Given the description of an element on the screen output the (x, y) to click on. 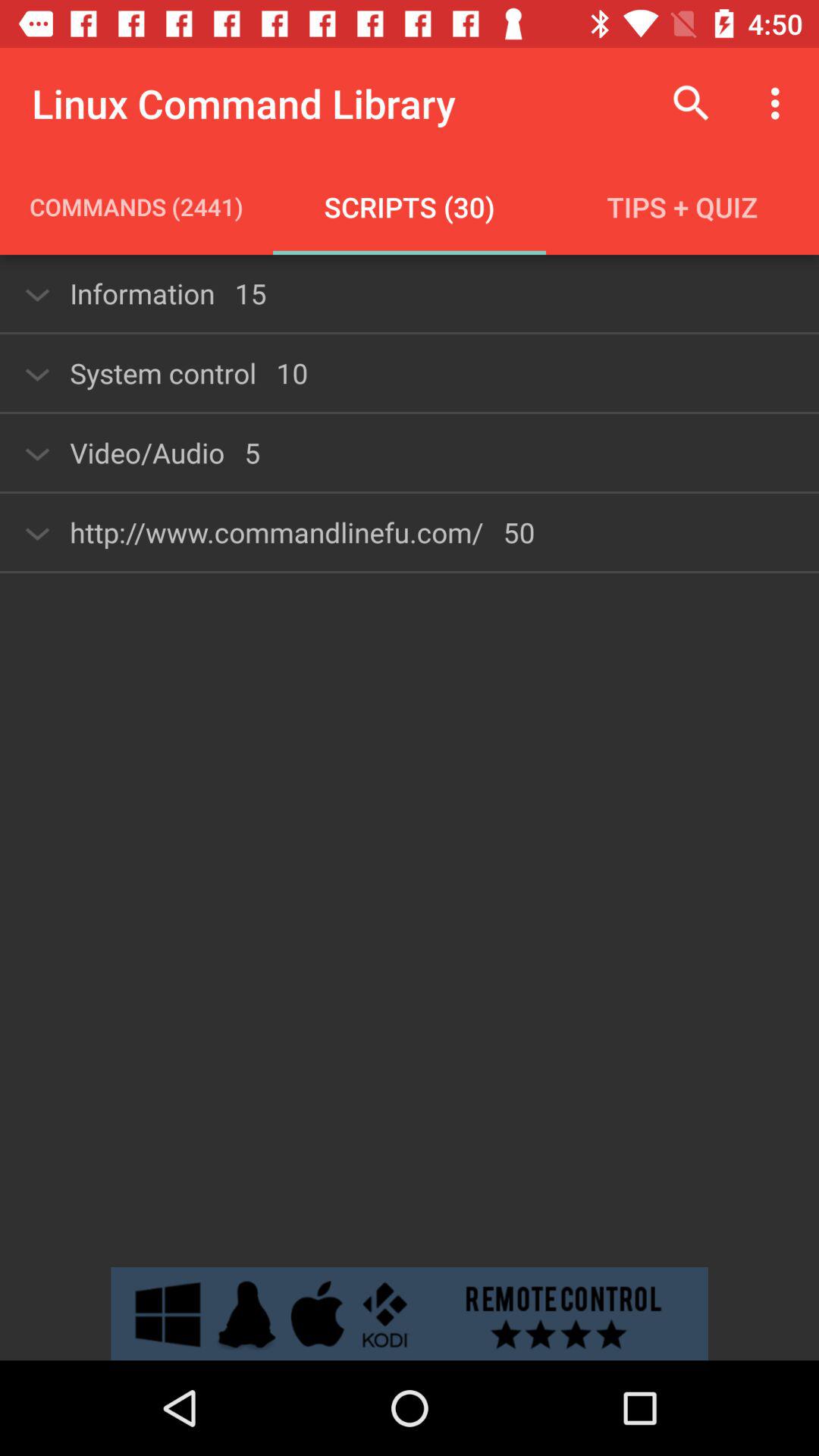
click the icon above tips + quiz item (779, 103)
